Given the description of an element on the screen output the (x, y) to click on. 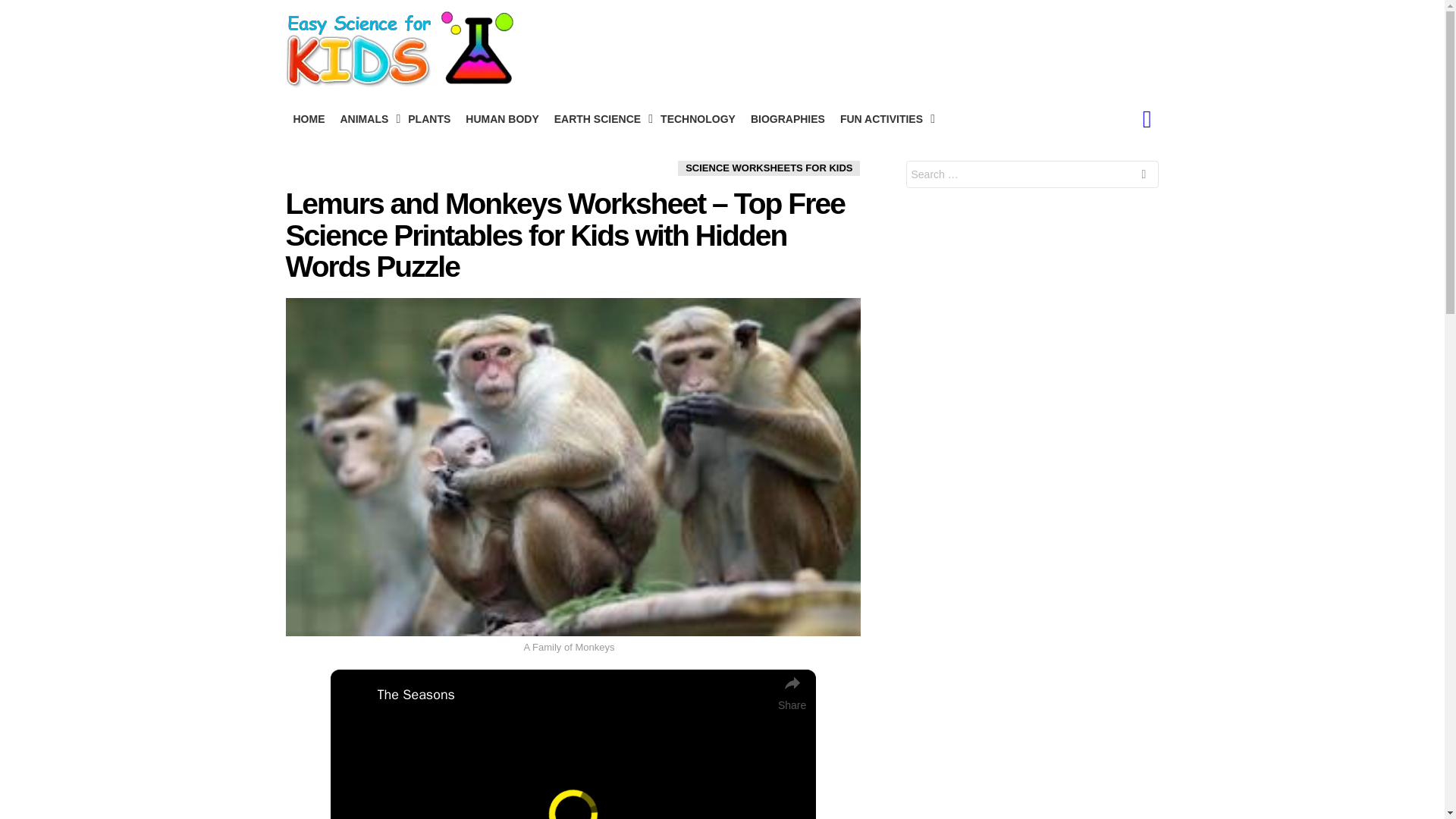
ANIMALS (365, 118)
Search for: (1031, 174)
HOME (308, 118)
The Human Body Science for Kids (502, 118)
The Animal Kingdom for Kids (365, 118)
